Given the description of an element on the screen output the (x, y) to click on. 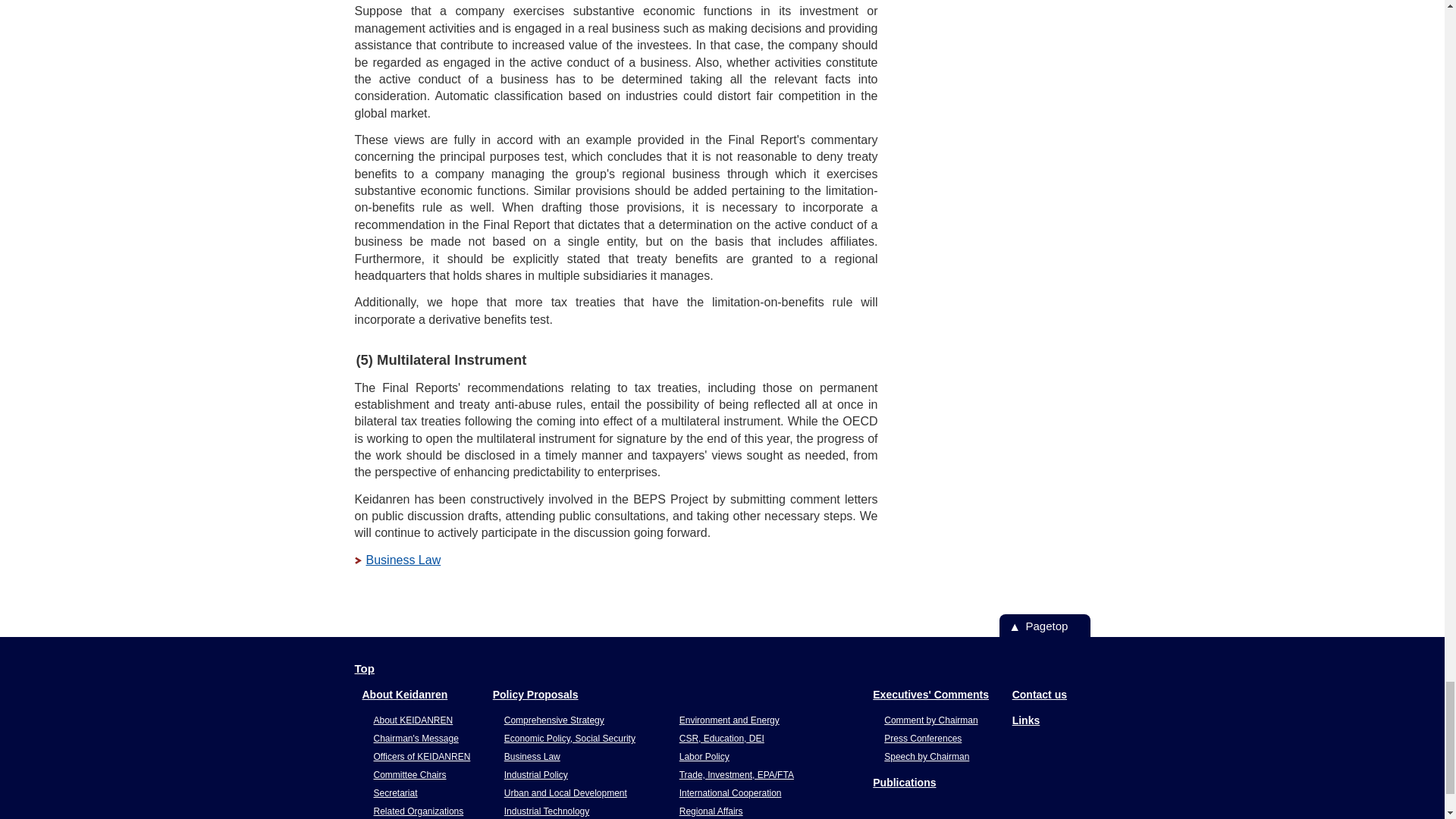
Business Law (398, 560)
